Given the description of an element on the screen output the (x, y) to click on. 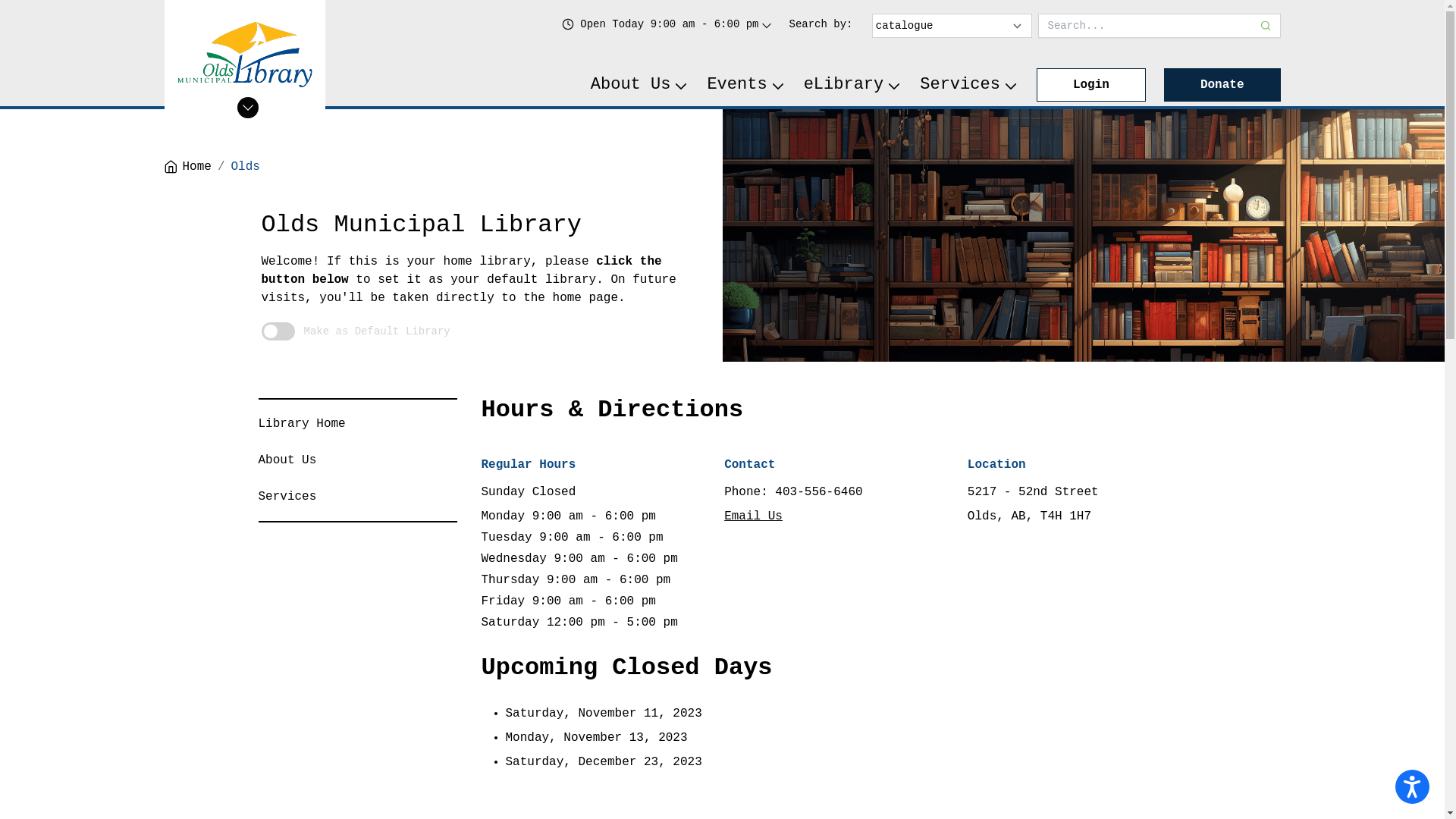
Olds Element type: text (245, 166)
Services Element type: text (968, 84)
About Us Element type: text (639, 84)
Login Element type: text (1090, 84)
Events Element type: text (745, 84)
Home Element type: text (186, 166)
Services Element type: text (286, 496)
About Us Element type: text (286, 460)
Email Us Element type: text (753, 516)
Donate Element type: text (1222, 84)
Library Home Element type: text (301, 423)
eLibrary Element type: text (852, 84)
